Given the description of an element on the screen output the (x, y) to click on. 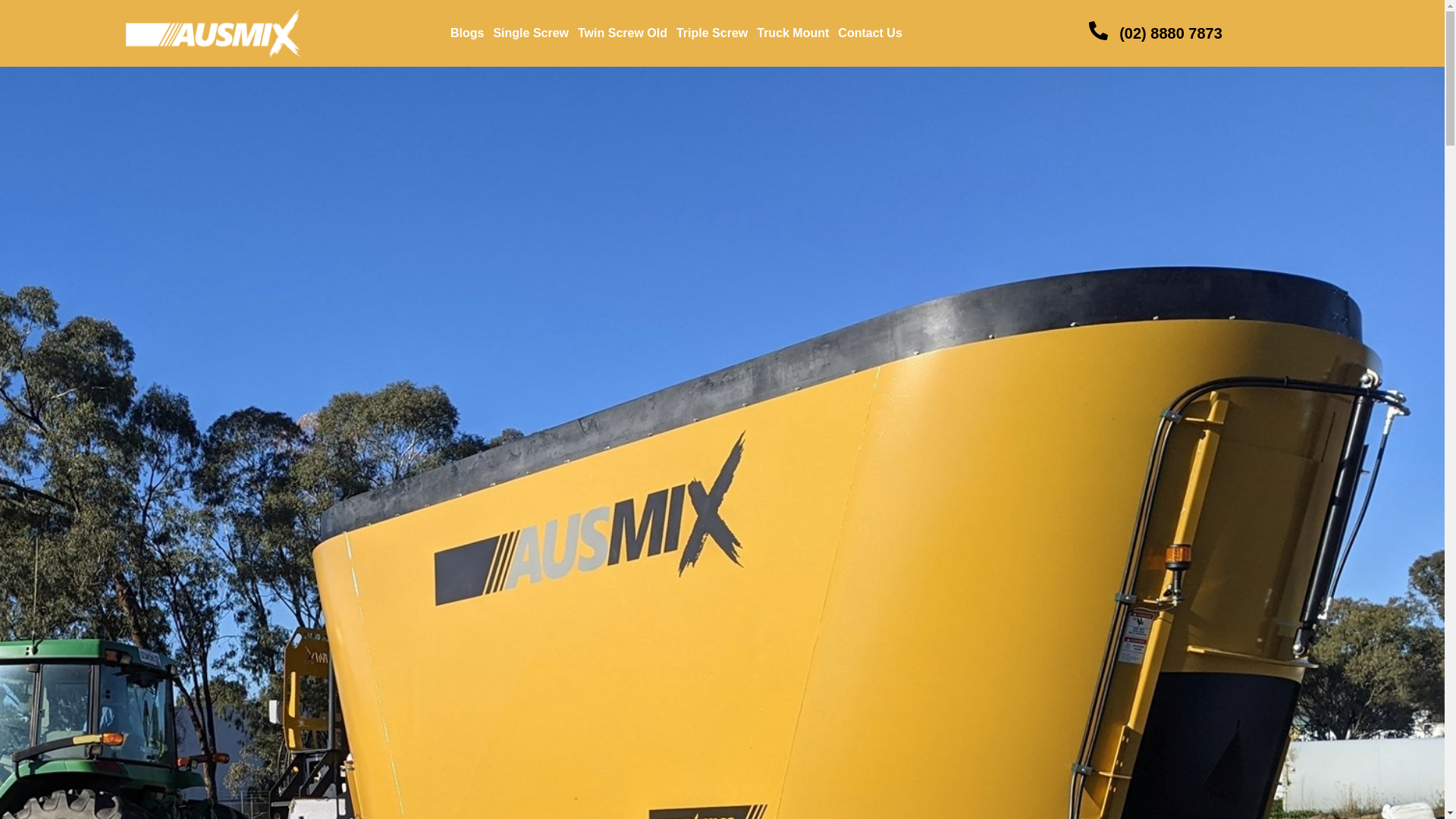
Contact Us (868, 32)
Truck Mount (792, 32)
Blogs (466, 32)
Single Screw (530, 32)
Twin Screw Old (622, 32)
Triple Screw (711, 32)
